Given the description of an element on the screen output the (x, y) to click on. 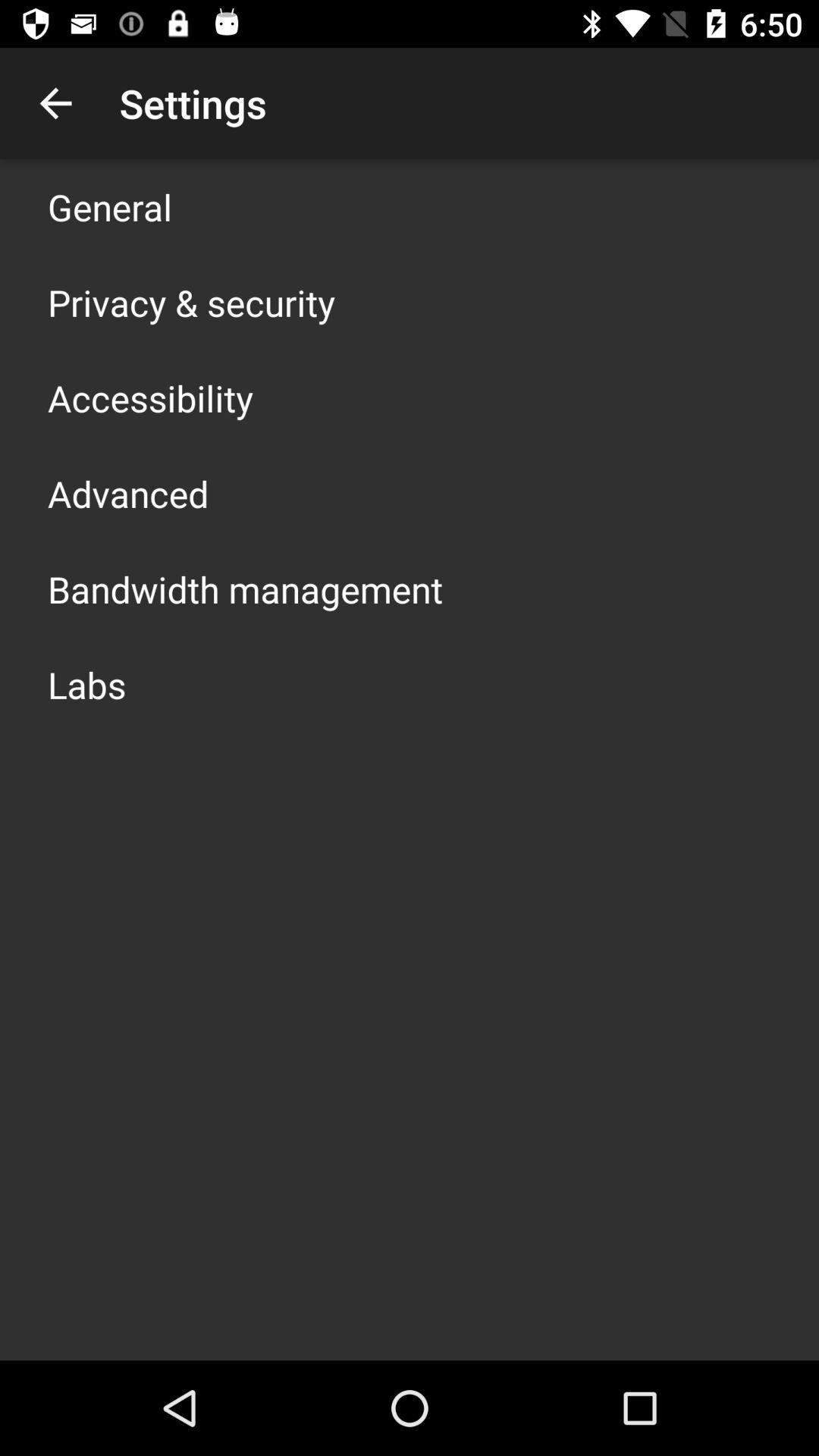
launch app above accessibility icon (190, 302)
